Given the description of an element on the screen output the (x, y) to click on. 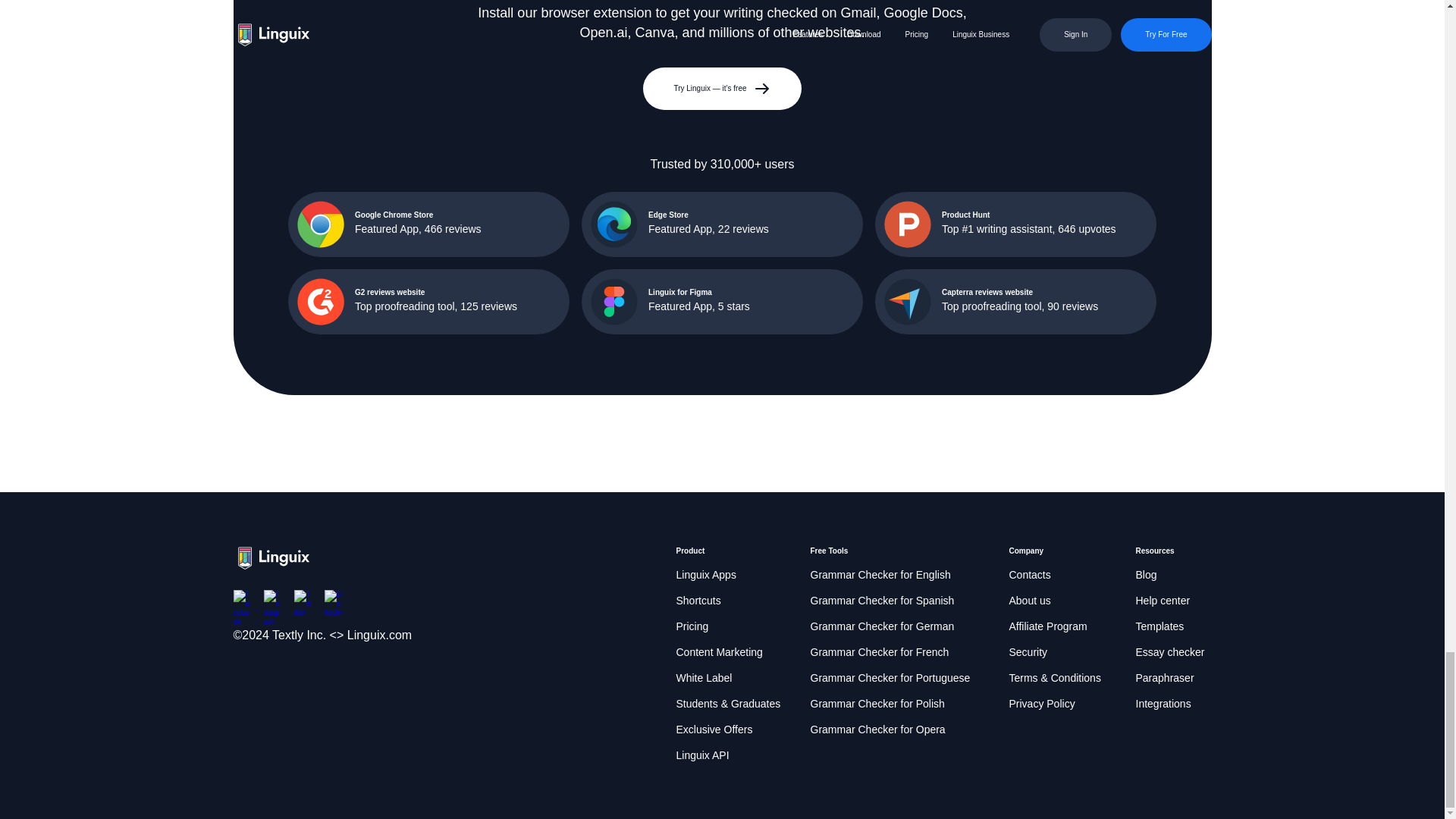
Linguix API (703, 755)
Free Tools (828, 551)
Pricing (693, 627)
Grammar Checker for French (879, 652)
Linguix Apps (706, 575)
White Label (704, 678)
Grammar Checker for Portuguese (889, 678)
Grammar Checker for English (879, 575)
Shortcuts (698, 600)
Grammar Checker for German (881, 627)
